Given the description of an element on the screen output the (x, y) to click on. 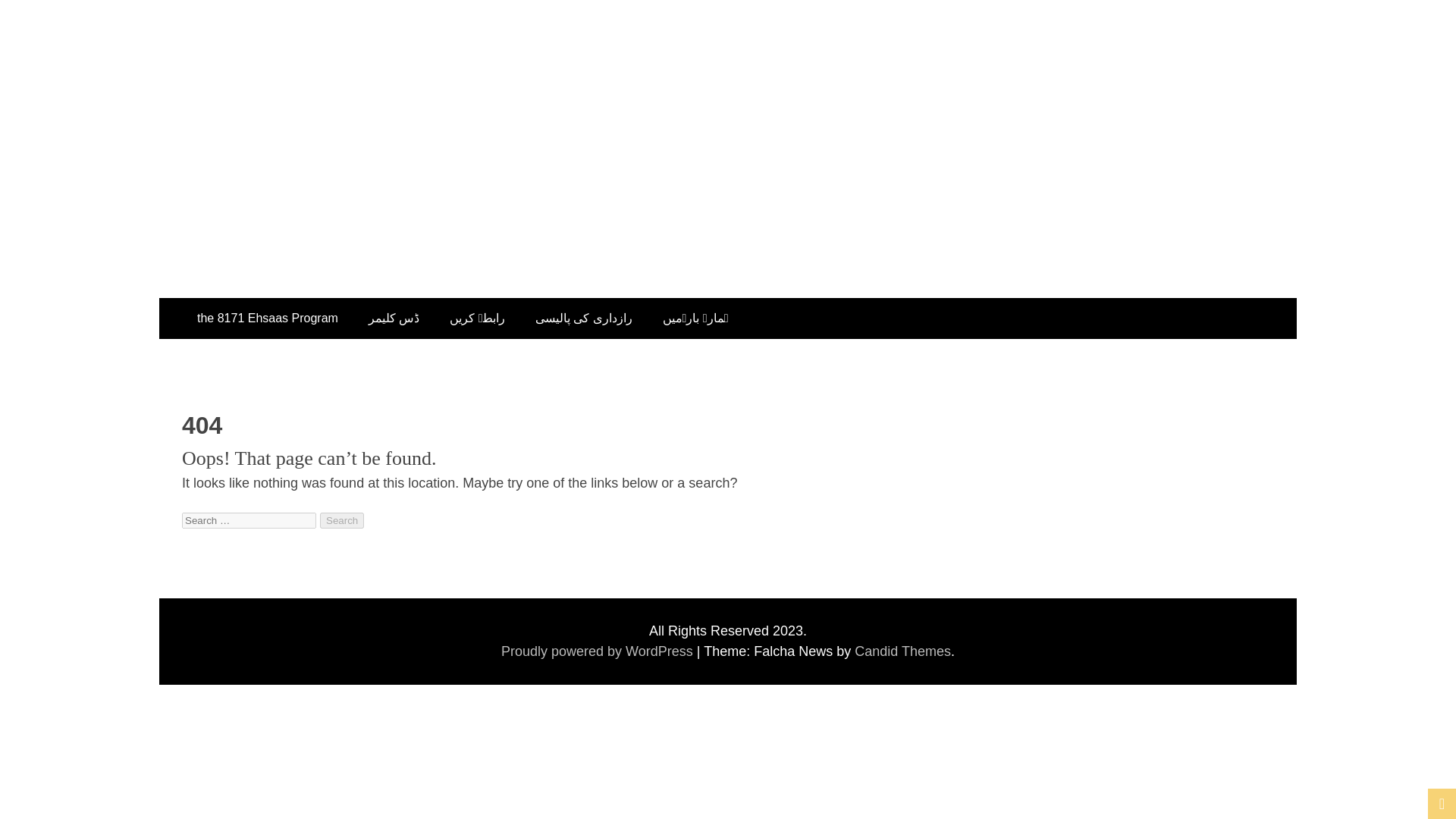
Search (342, 520)
Candid Themes (902, 651)
Proudly powered by WordPress (598, 651)
Search (342, 520)
Search (342, 520)
the 8171 Ehsaas Program (267, 318)
